Given the description of an element on the screen output the (x, y) to click on. 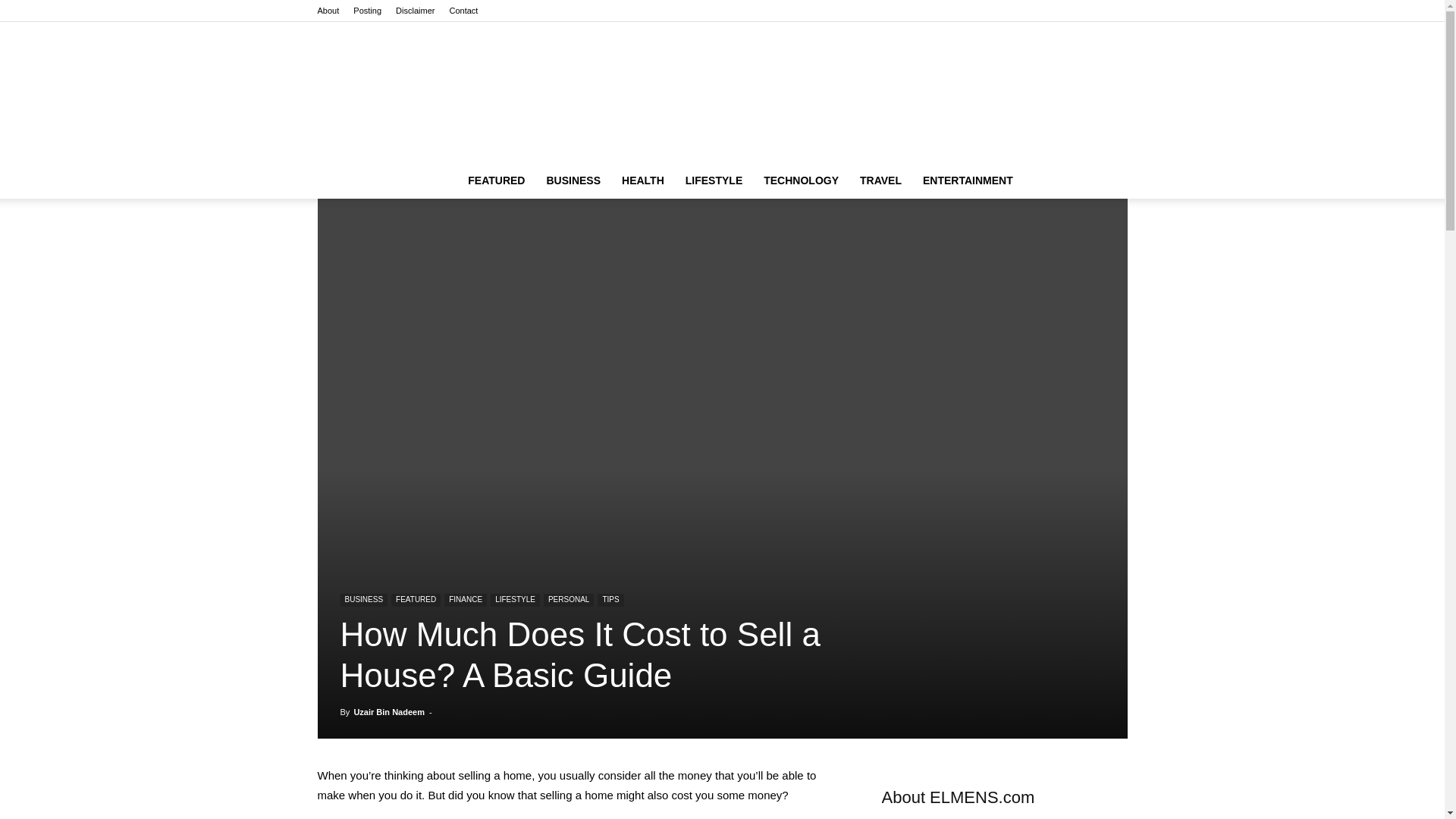
elmenslogo (721, 92)
LIFESTYLE (713, 180)
CATEGORIES (496, 180)
